Given the description of an element on the screen output the (x, y) to click on. 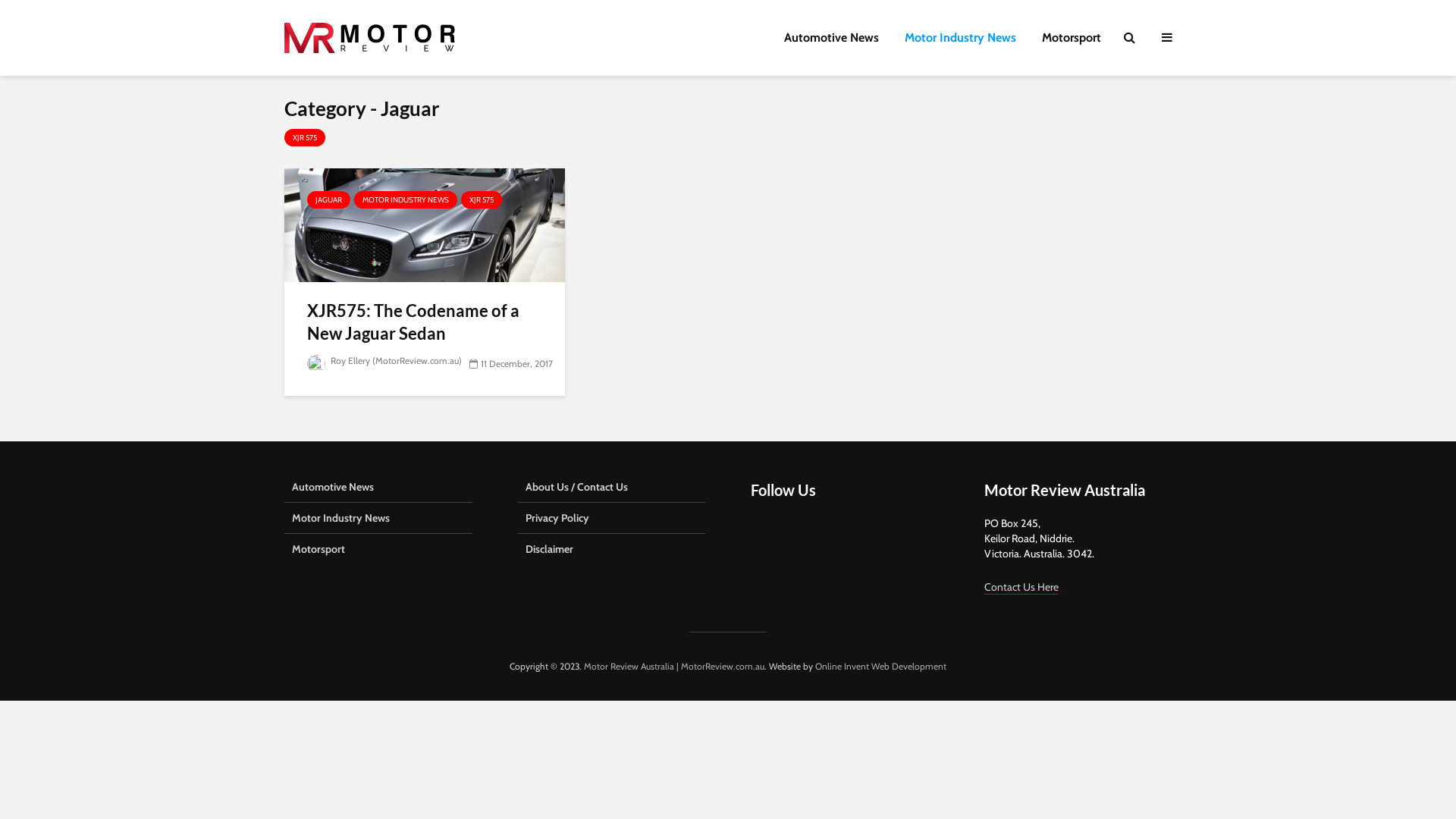
Disclaimer Element type: text (611, 548)
Roy Ellery (MotorReview.com.au) Element type: text (384, 360)
Motorsport Element type: text (1071, 37)
Motor Review Australia | MotorReview.com.au Element type: text (673, 665)
Motor Industry News Element type: text (960, 37)
XJR 575 Element type: text (304, 137)
MOTOR INDUSTRY NEWS Element type: text (405, 199)
Privacy Policy Element type: text (611, 517)
Contact Us Here Element type: text (1021, 587)
About Us / Contact Us Element type: text (611, 490)
XJR575: The Codename of a New Jaguar Sedan Element type: hover (424, 223)
JAGUAR Element type: text (328, 199)
Motor Industry News Element type: text (378, 517)
XJR575: The Codename of a New Jaguar Sedan Element type: text (424, 322)
Online Invent Web Development Element type: text (880, 665)
XJR 575 Element type: text (481, 199)
Automotive News Element type: text (831, 37)
Automotive News Element type: text (378, 490)
Motorsport Element type: text (378, 548)
